Given the description of an element on the screen output the (x, y) to click on. 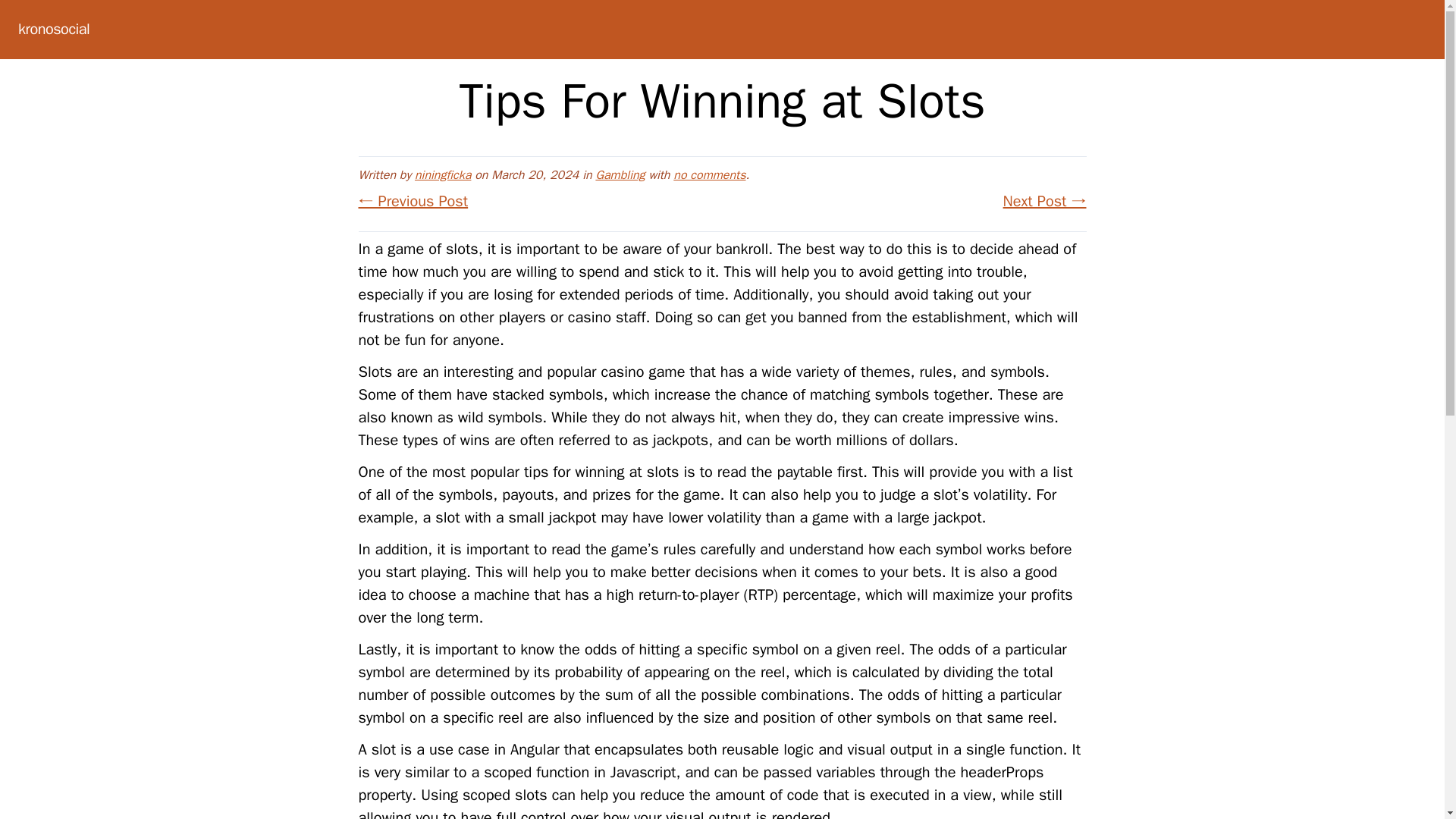
no comments (708, 174)
no comments (708, 174)
kronosocial (52, 29)
niningficka (442, 174)
Gambling (620, 174)
